Given the description of an element on the screen output the (x, y) to click on. 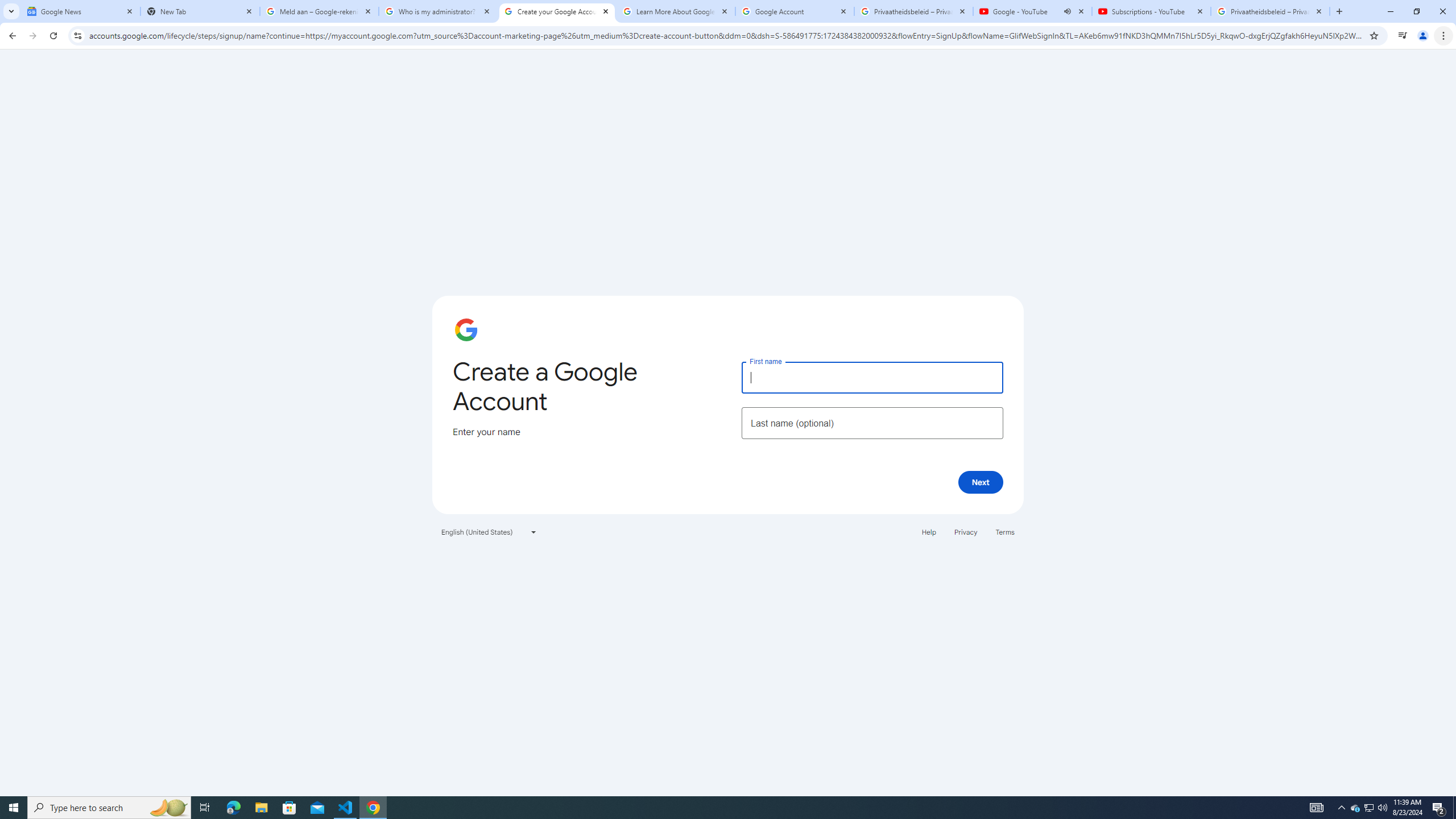
Last name (optional) (871, 422)
First name (871, 376)
Who is my administrator? - Google Account Help (438, 11)
Google - YouTube - Audio playing (1032, 11)
